Given the description of an element on the screen output the (x, y) to click on. 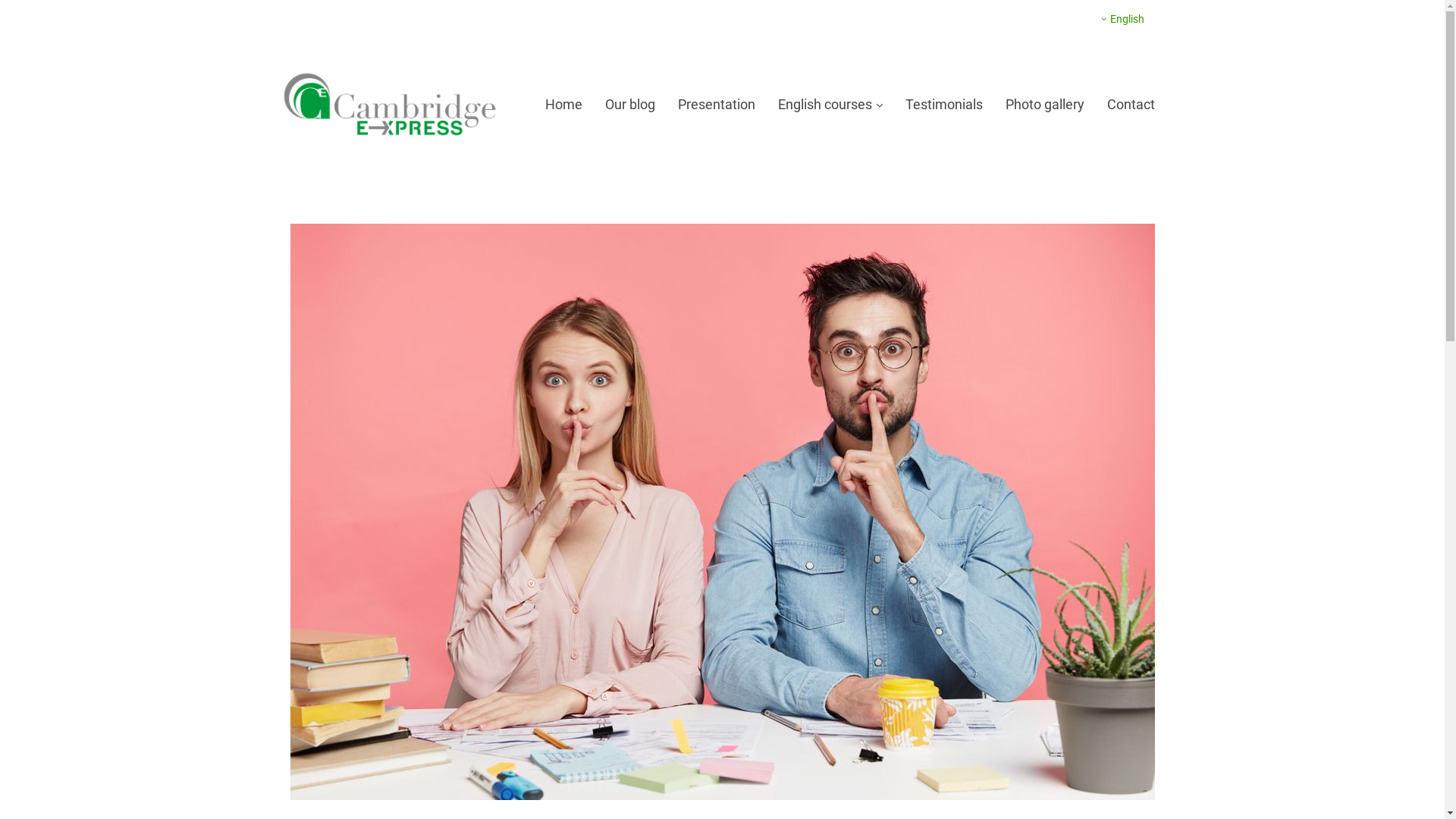
Testimonials Element type: text (943, 104)
Presentation Element type: text (716, 104)
Contact Element type: text (1130, 104)
Photo gallery Element type: text (1044, 104)
Home Element type: text (562, 104)
English courses Element type: text (830, 104)
Our blog Element type: text (630, 104)
English Element type: text (1122, 18)
